Given the description of an element on the screen output the (x, y) to click on. 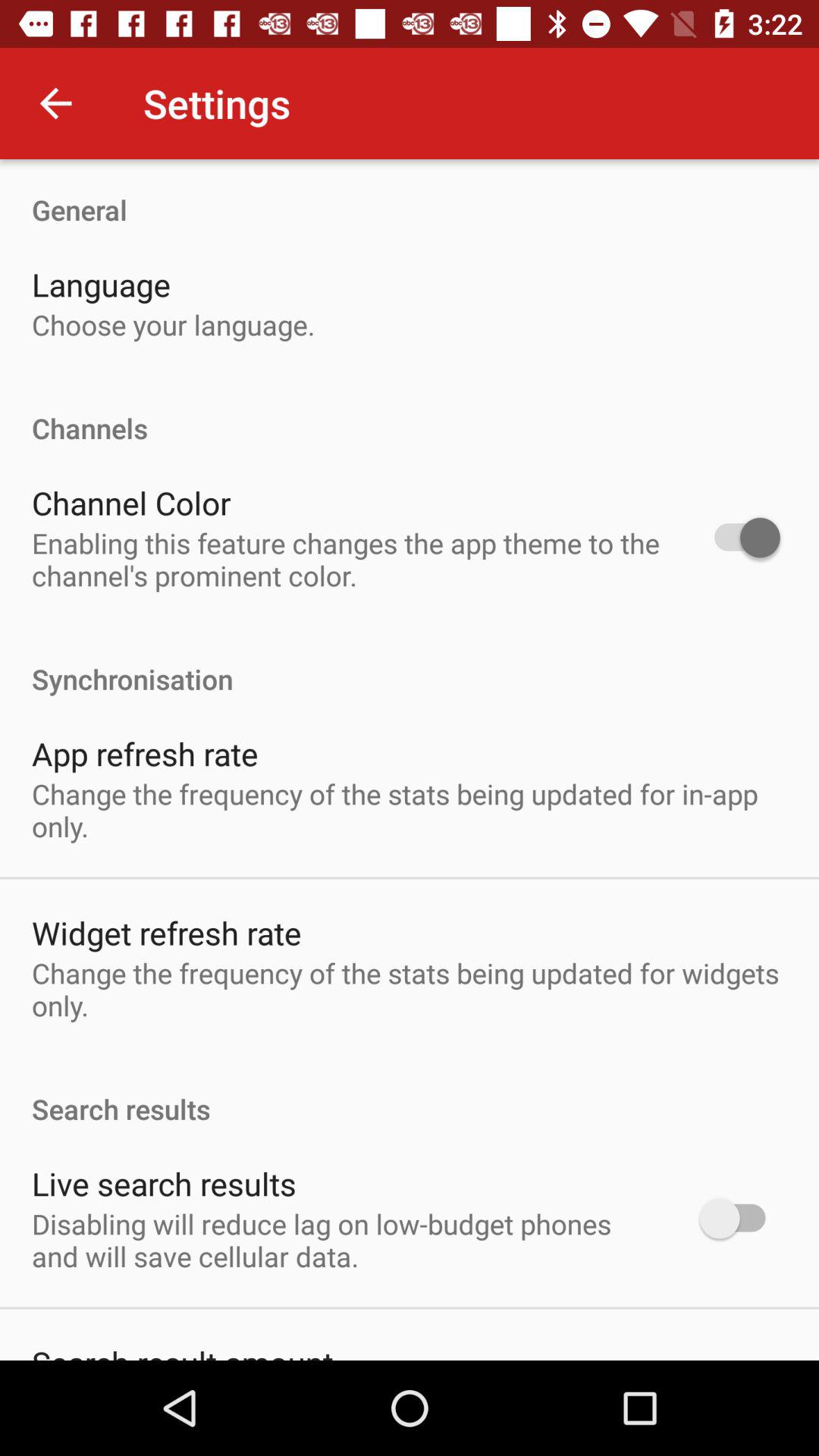
jump to choose your language. icon (173, 324)
